Given the description of an element on the screen output the (x, y) to click on. 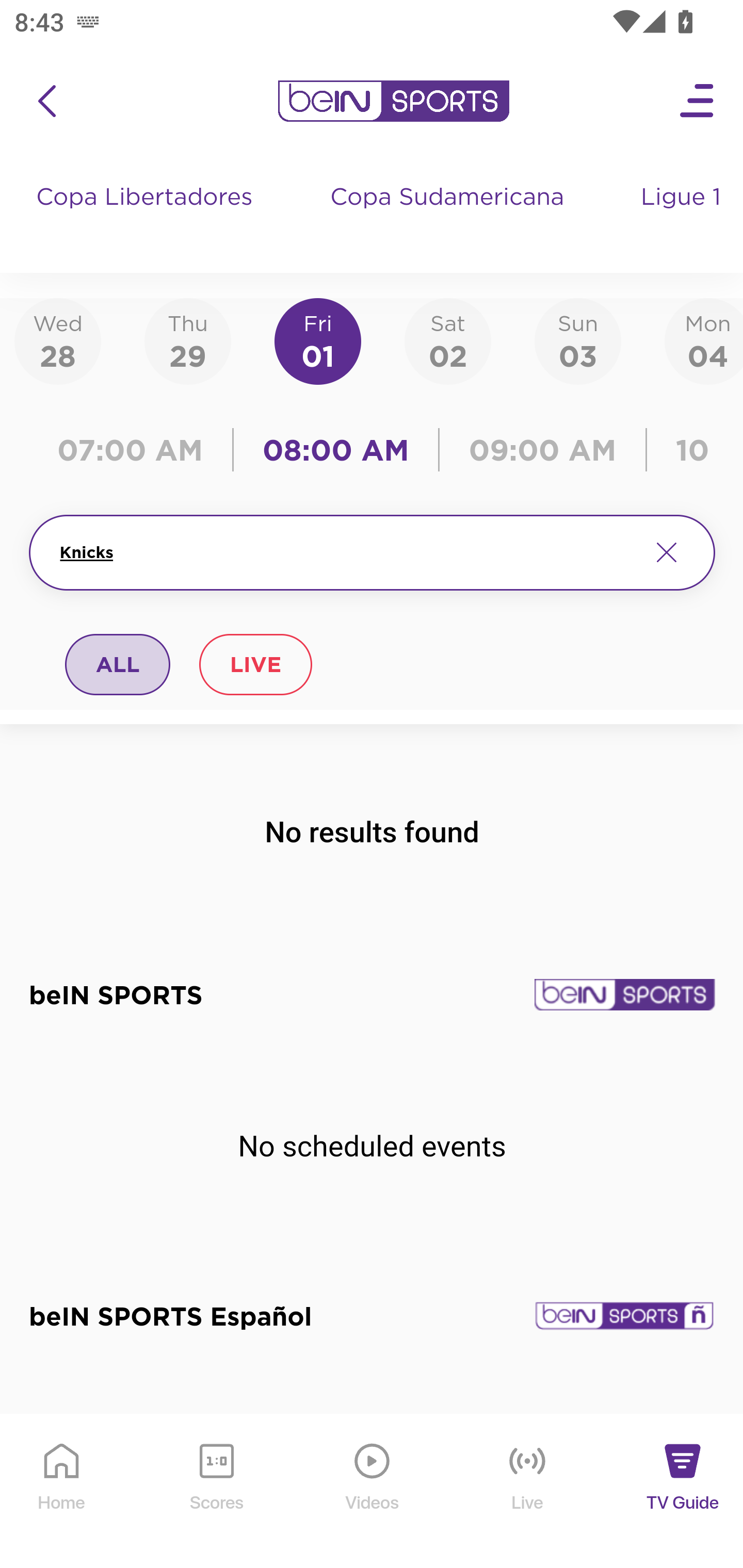
en-us?platform=mobile_android bein logo (392, 101)
icon back (46, 101)
Open Menu Icon (697, 101)
Copa Libertadores (146, 216)
Copa Sudamericana (448, 216)
Ligue 1 (682, 216)
Wed28 (58, 340)
Thu29 (187, 340)
Fri01 (318, 340)
Sat02 (447, 340)
Sun03 (578, 340)
Mon04 (703, 340)
07:00 AM (135, 449)
08:00 AM (336, 449)
09:00 AM (542, 449)
Knicks (346, 552)
ALL (118, 663)
LIVE (255, 663)
Home Home Icon Home (61, 1491)
Scores Scores Icon Scores (216, 1491)
Videos Videos Icon Videos (372, 1491)
TV Guide TV Guide Icon TV Guide (682, 1491)
